Given the description of an element on the screen output the (x, y) to click on. 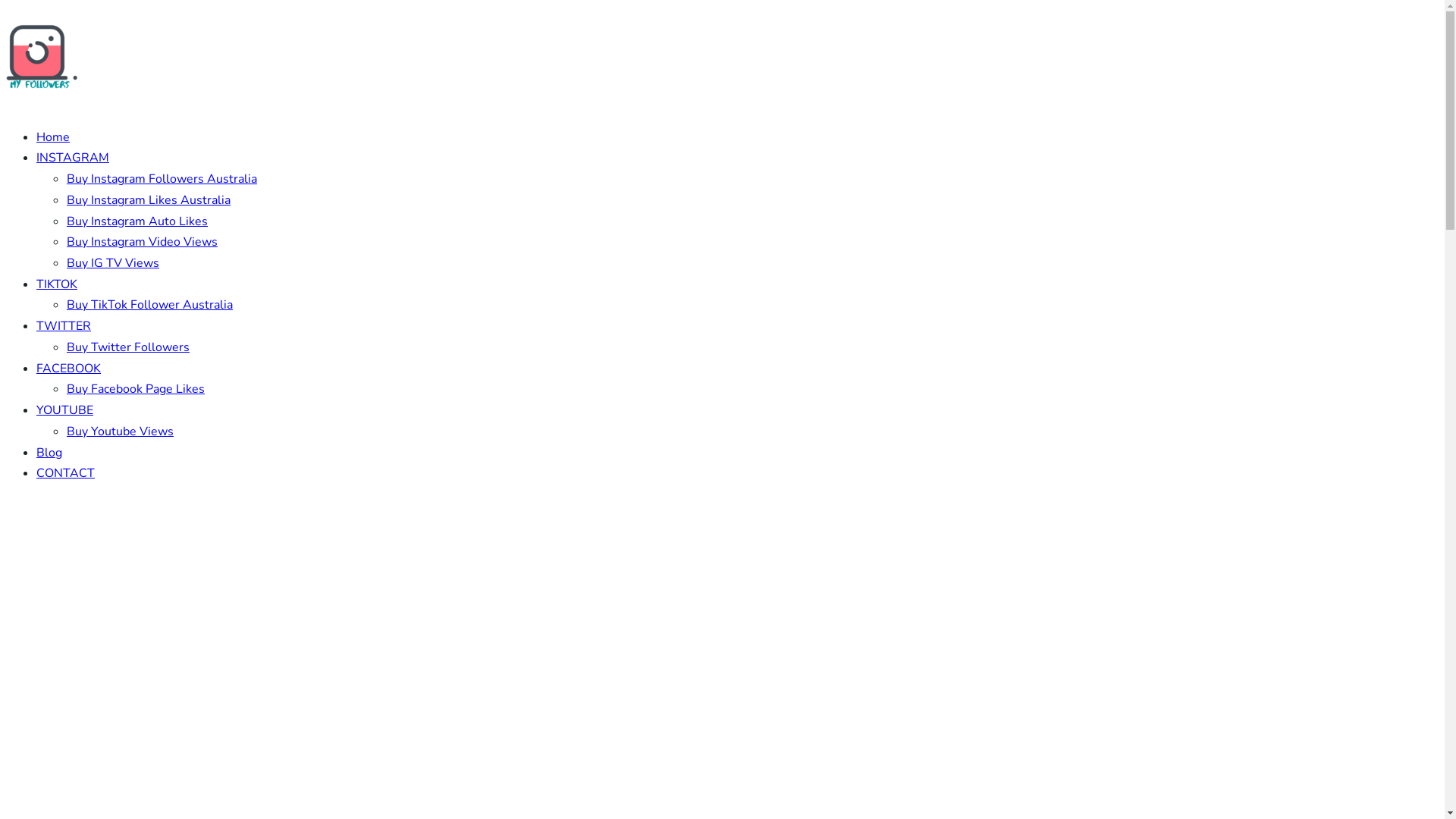
INSTAGRAM Element type: text (72, 157)
Home Element type: text (52, 136)
Blog Element type: text (49, 452)
YOUTUBE Element type: text (64, 409)
Buy Facebook Page Likes Element type: text (135, 388)
CONTACT Element type: text (65, 472)
Buy Instagram Video Views Element type: text (141, 241)
Buy Instagram Likes Australia Element type: text (148, 199)
Buy IG TV Views Element type: text (112, 262)
Buy Youtube Views Element type: text (119, 431)
TWITTER Element type: text (63, 325)
Buy Instagram Auto Likes Element type: text (136, 221)
Buy TikTok Follower Australia Element type: text (149, 304)
Buy Twitter Followers Element type: text (127, 346)
FACEBOOK Element type: text (68, 368)
Buy Instagram Followers Australia Element type: text (161, 178)
TIKTOK Element type: text (56, 284)
